Given the description of an element on the screen output the (x, y) to click on. 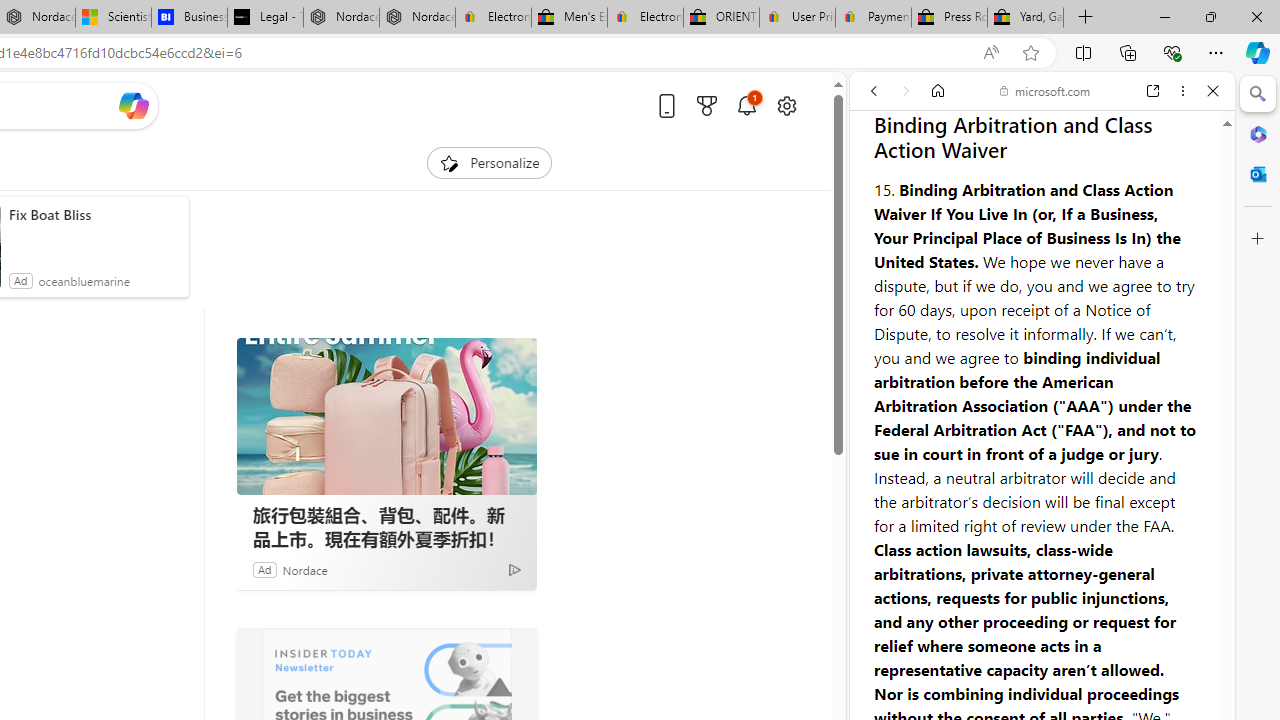
Fix Boat Bliss (93, 214)
microsoft.com (1045, 90)
